Given the description of an element on the screen output the (x, y) to click on. 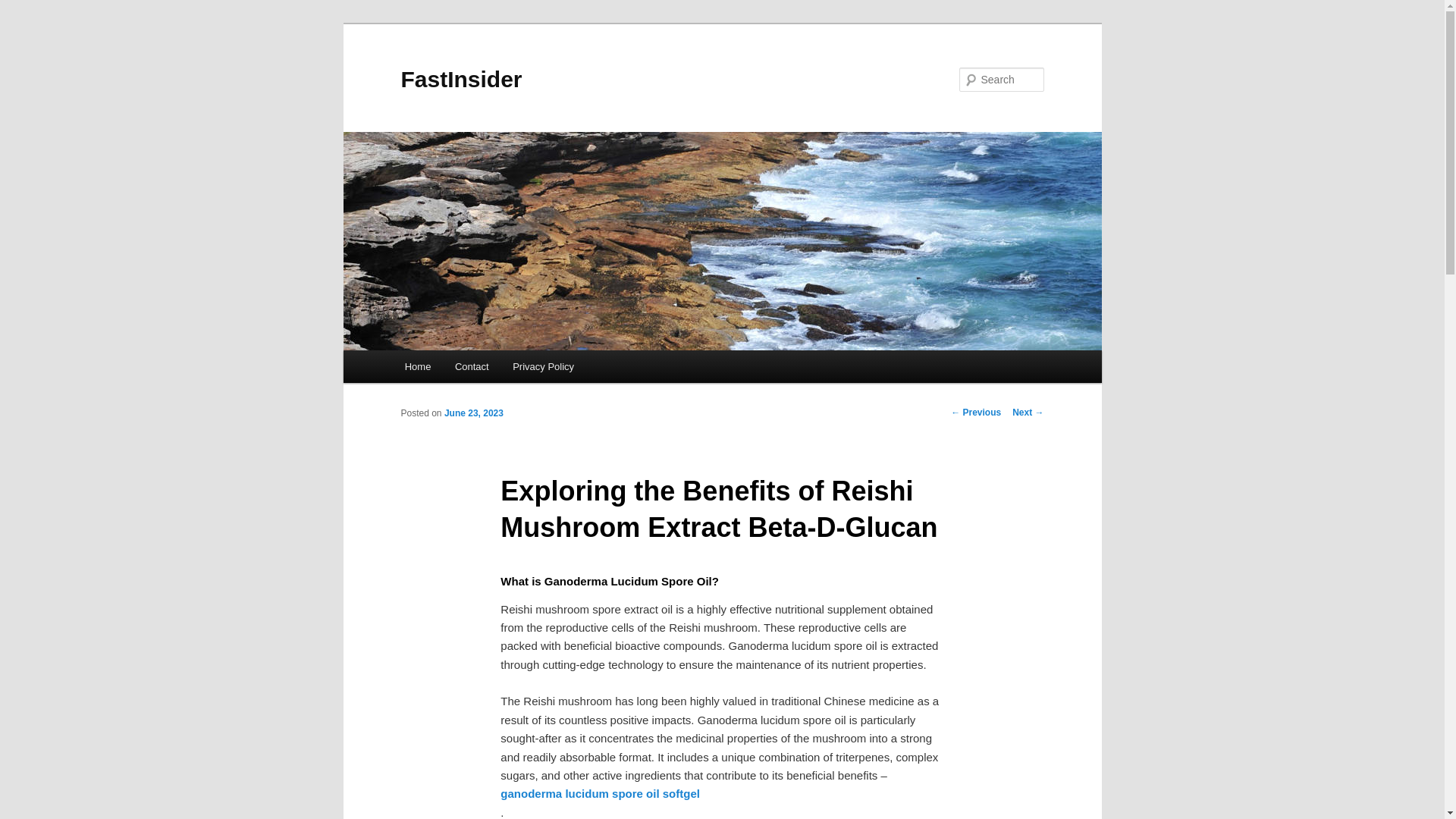
Search (24, 8)
Home (417, 366)
FastInsider (460, 78)
Contact (471, 366)
10:54 pm (473, 412)
ganoderma lucidum spore oil softgel (600, 793)
Privacy Policy (542, 366)
June 23, 2023 (473, 412)
